Given the description of an element on the screen output the (x, y) to click on. 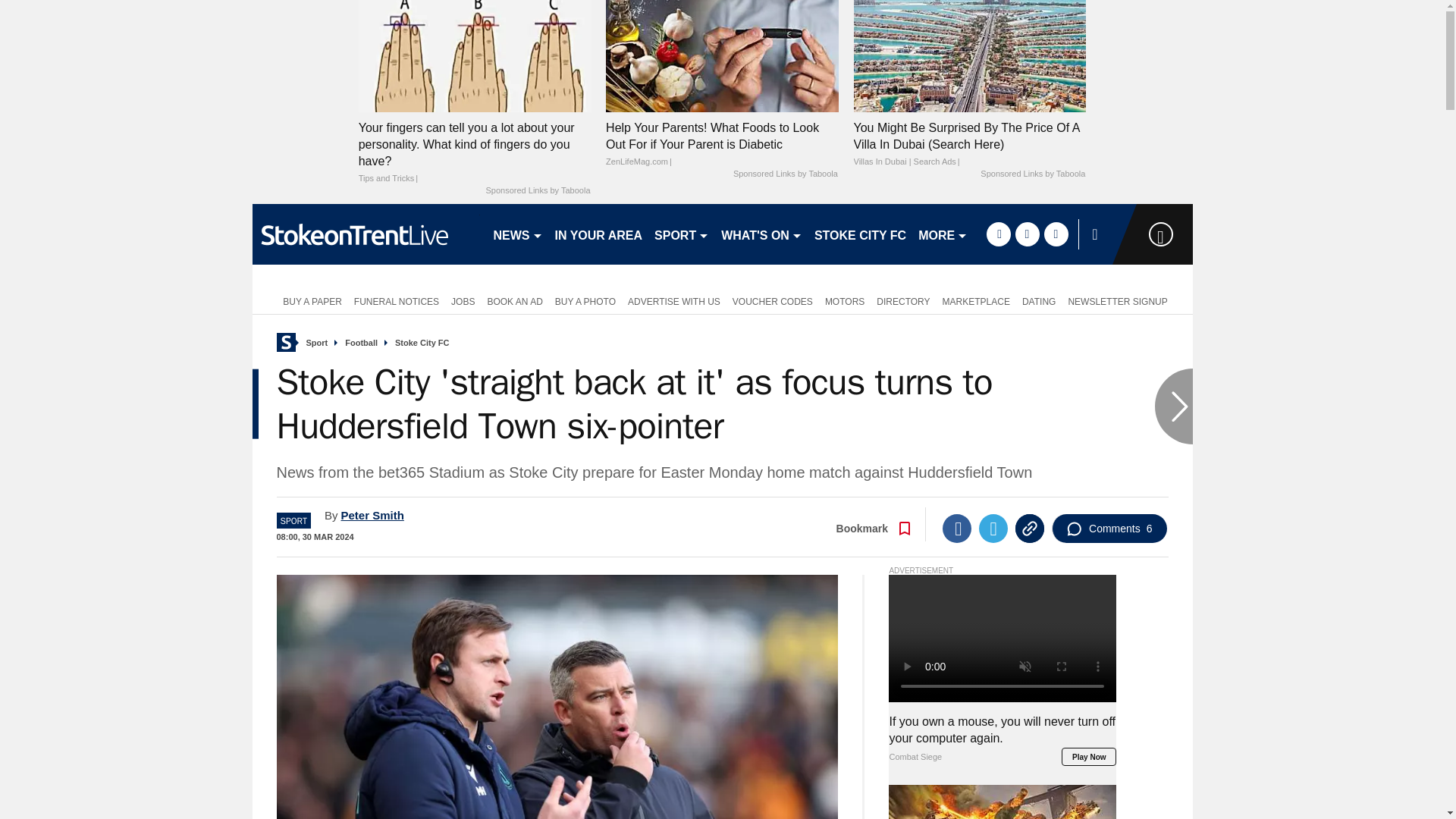
NEWS (517, 233)
IN YOUR AREA (598, 233)
Twitter (992, 528)
Sponsored Links by Taboola (1031, 174)
stokesentinel (365, 233)
twitter (1026, 233)
Comments (1108, 528)
facebook (997, 233)
SPORT (680, 233)
Facebook (956, 528)
Sponsored Links by Taboola (536, 190)
